Given the description of an element on the screen output the (x, y) to click on. 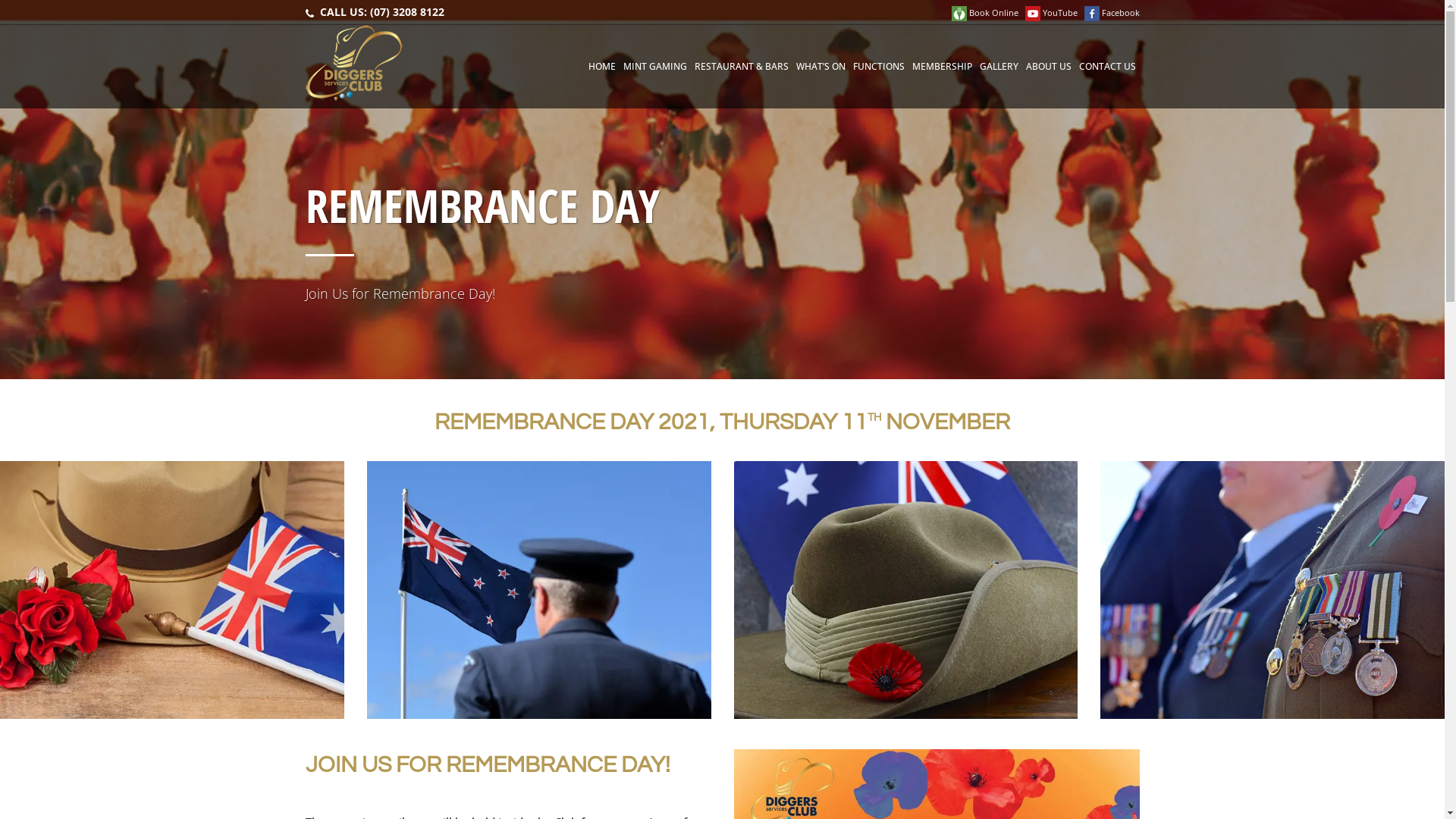
(07) 3208 8122 Element type: text (407, 11)
RESTAURANT & BARS Element type: text (740, 66)
MEMBERSHIP Element type: text (941, 66)
Anzac Day Element type: hover (906, 589)
anzac day diggers Element type: hover (172, 589)
FUNCTIONS Element type: text (878, 66)
MINT GAMING Element type: text (654, 66)
Book Online Element type: text (983, 12)
CONTACT US Element type: text (1107, 66)
ABOUT US Element type: text (1048, 66)
Anzac Day Element type: hover (1272, 589)
HOME Element type: text (600, 66)
YouTube Element type: text (1051, 12)
GALLERY Element type: text (998, 66)
Facebook Element type: text (1111, 12)
Remembrance day Element type: hover (539, 589)
